Given the description of an element on the screen output the (x, y) to click on. 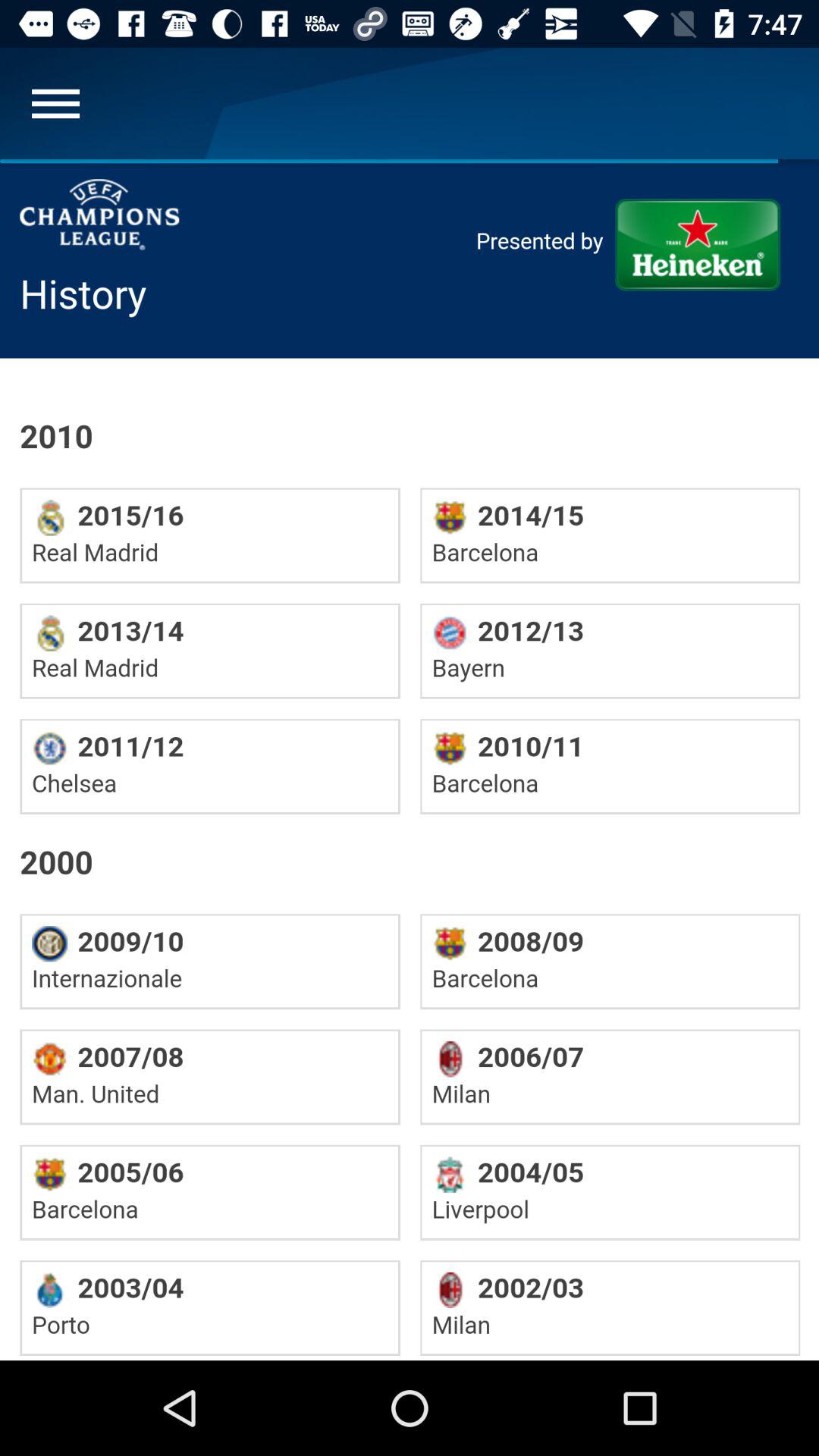
advertisement page (409, 759)
